Given the description of an element on the screen output the (x, y) to click on. 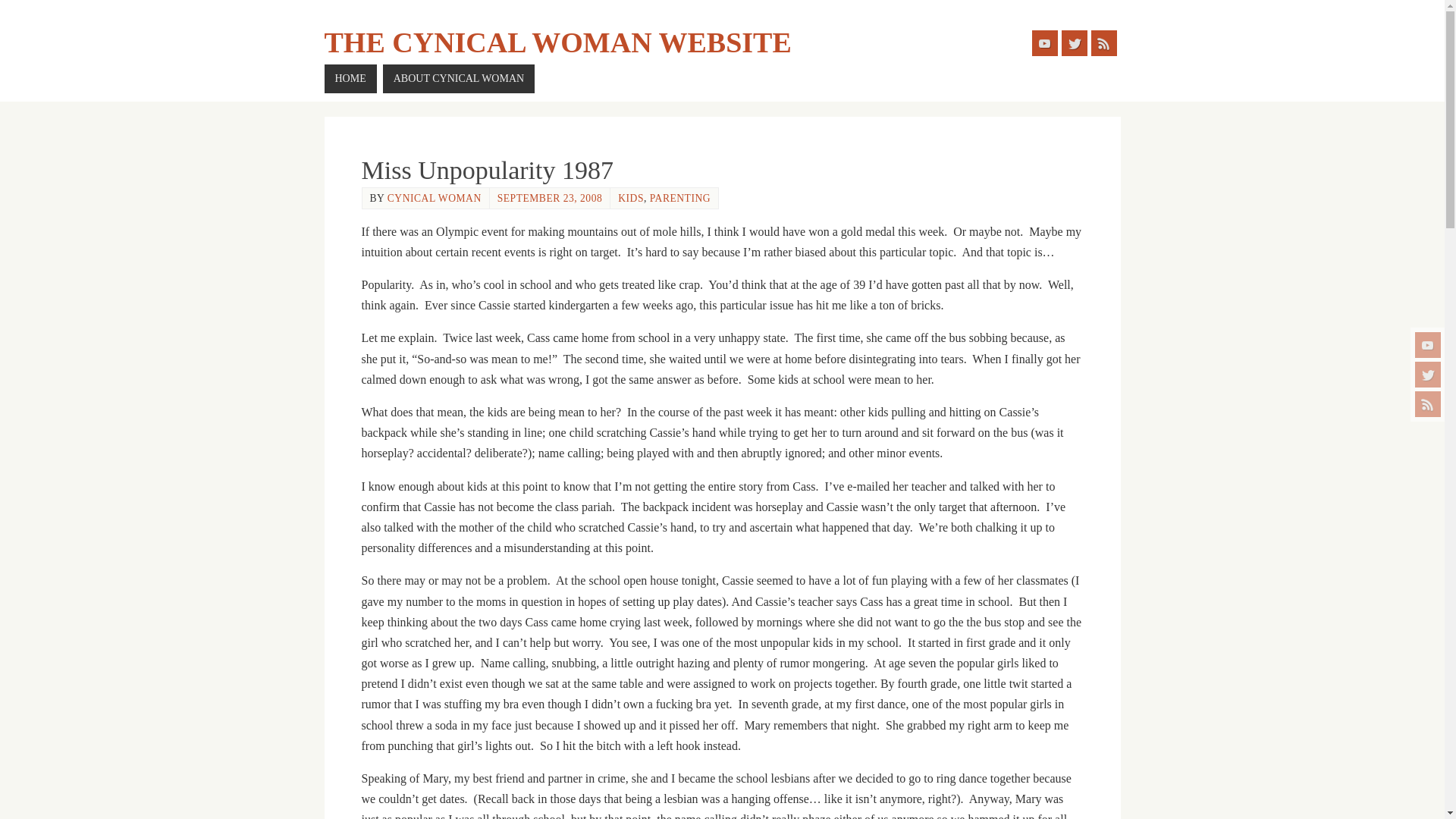
HOME (350, 78)
Twitter (1428, 374)
View all posts by Cynical Woman (434, 197)
YouTube (1043, 43)
Twitter (1074, 43)
The Cynical Woman Website (558, 42)
RSS (1103, 43)
KIDS (630, 197)
PARENTING (679, 197)
SEPTEMBER 23, 2008 (549, 197)
THE CYNICAL WOMAN WEBSITE (558, 42)
RSS (1428, 403)
YouTube (1428, 344)
CYNICAL WOMAN (434, 197)
ABOUT CYNICAL WOMAN (458, 78)
